Given the description of an element on the screen output the (x, y) to click on. 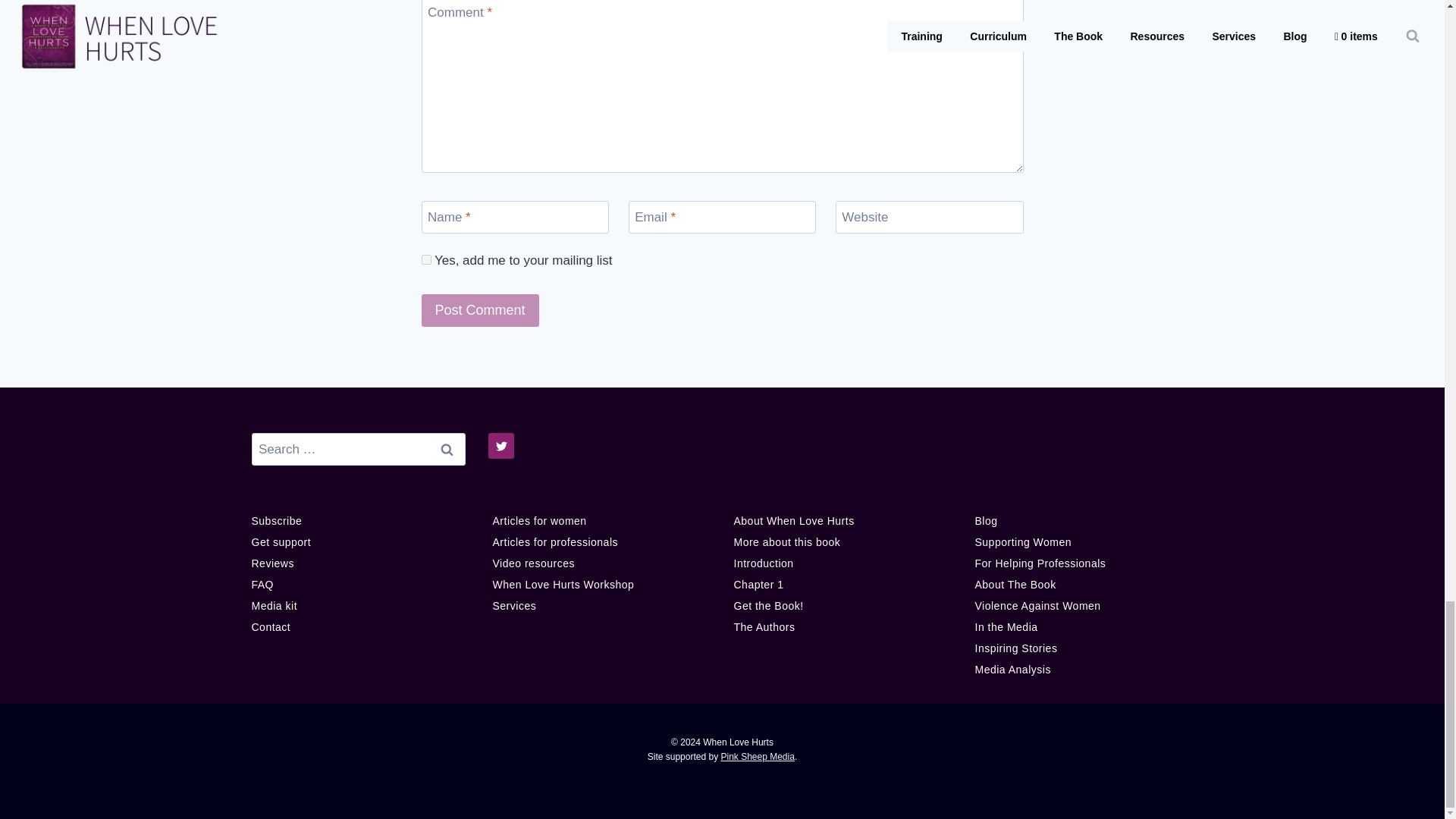
Search (446, 449)
Post Comment (480, 310)
1 (426, 259)
Search (446, 449)
